Given the description of an element on the screen output the (x, y) to click on. 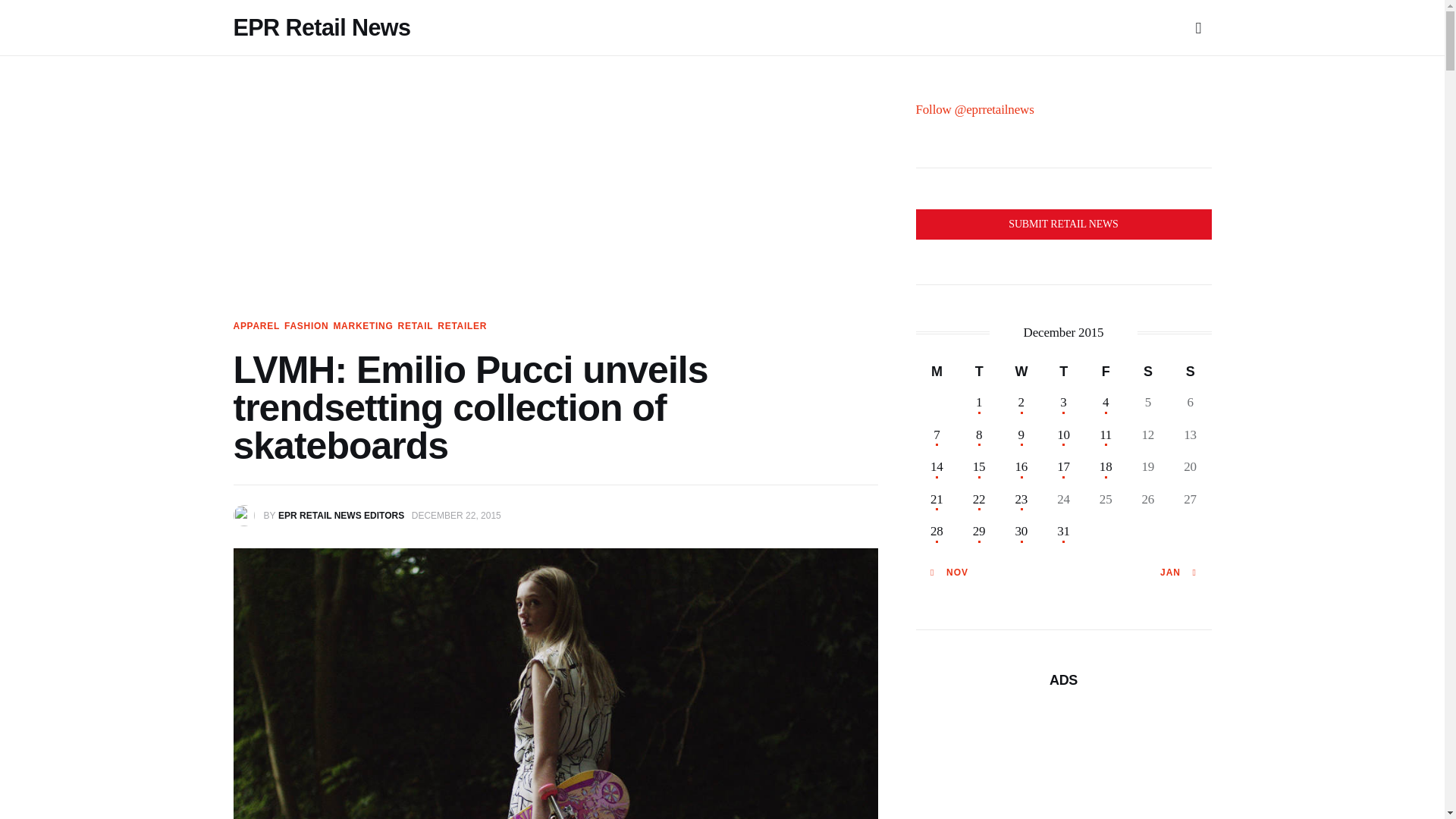
Wednesday (1021, 371)
Saturday (1147, 371)
Submit Retail News (1063, 224)
Advertisement (1063, 763)
Tuesday (979, 371)
Monday (936, 371)
Thursday (1063, 371)
EPR Retail News (321, 27)
Friday (1105, 371)
